Given the description of an element on the screen output the (x, y) to click on. 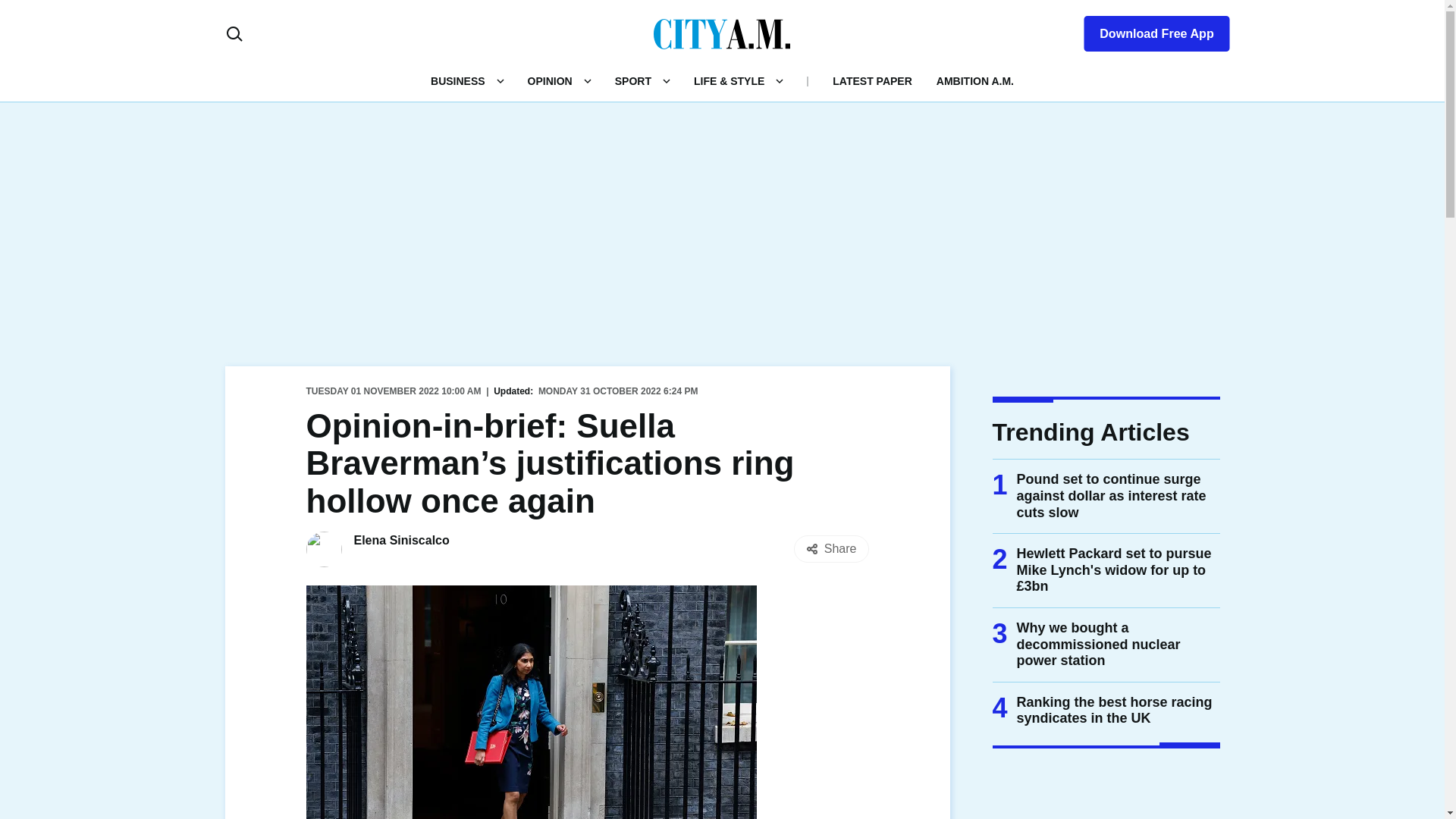
Download Free App (1146, 30)
BUSINESS (457, 80)
SPORT (632, 80)
CityAM (721, 33)
OPINION (549, 80)
